Given the description of an element on the screen output the (x, y) to click on. 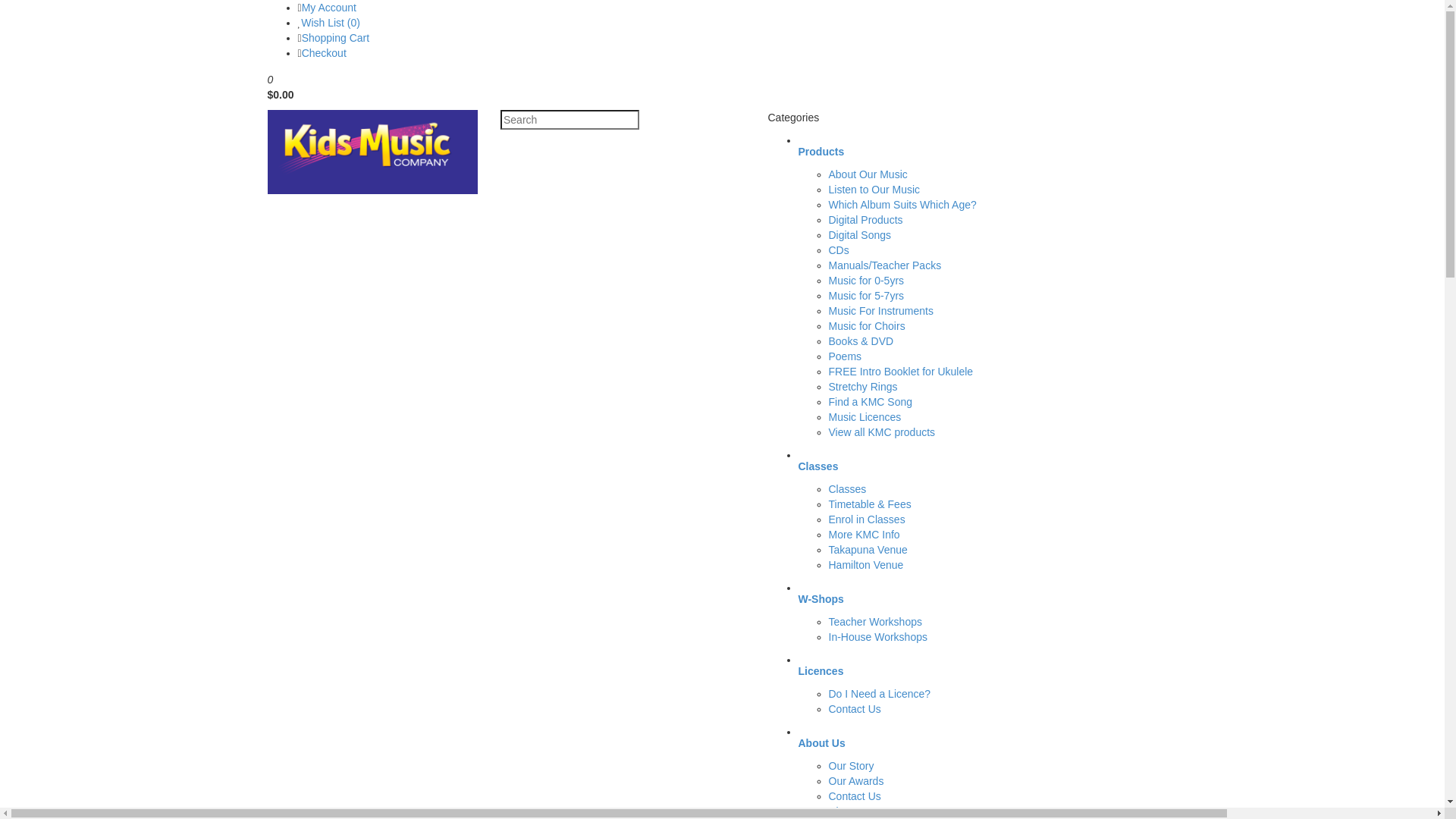
Enrol in Classes Element type: text (866, 519)
Takapuna Venue Element type: text (867, 549)
Classes Venue Element type: text (863, 811)
Contact Us Element type: text (854, 796)
My Account Element type: text (328, 7)
Do I Need a Licence? Element type: text (879, 693)
Wish List (0) Element type: text (330, 22)
Classes Element type: text (847, 489)
Kids Music Company - Online Shop Element type: hover (371, 151)
Stretchy Rings Element type: text (862, 386)
Contact Us Element type: text (854, 708)
Digital Songs Element type: text (859, 235)
Digital Products Element type: text (865, 219)
Music Licences Element type: text (864, 417)
View all KMC products Element type: text (881, 432)
Checkout Element type: text (323, 53)
More KMC Info Element type: text (863, 534)
Books & DVD Element type: text (860, 341)
0
$0.00 Element type: text (721, 85)
Shopping Cart Element type: text (335, 37)
Manuals/Teacher Packs Element type: text (884, 265)
Hamilton Venue Element type: text (865, 564)
FREE Intro Booklet for Ukulele Element type: text (900, 371)
Listen to Our Music Element type: text (873, 189)
Timetable & Fees Element type: text (869, 504)
Poems Element type: text (844, 356)
Find a KMC Song Element type: text (870, 401)
Teacher Workshops Element type: text (874, 621)
CDs Element type: text (838, 250)
Music For Instruments Element type: text (880, 310)
Music for Choirs Element type: text (866, 326)
Our Awards Element type: text (855, 781)
Our Story Element type: text (850, 765)
Music for 0-5yrs Element type: text (865, 280)
About Our Music Element type: text (867, 174)
In-House Workshops Element type: text (877, 636)
Music for 5-7yrs Element type: text (865, 295)
Which Album Suits Which Age? Element type: text (901, 204)
